Given the description of an element on the screen output the (x, y) to click on. 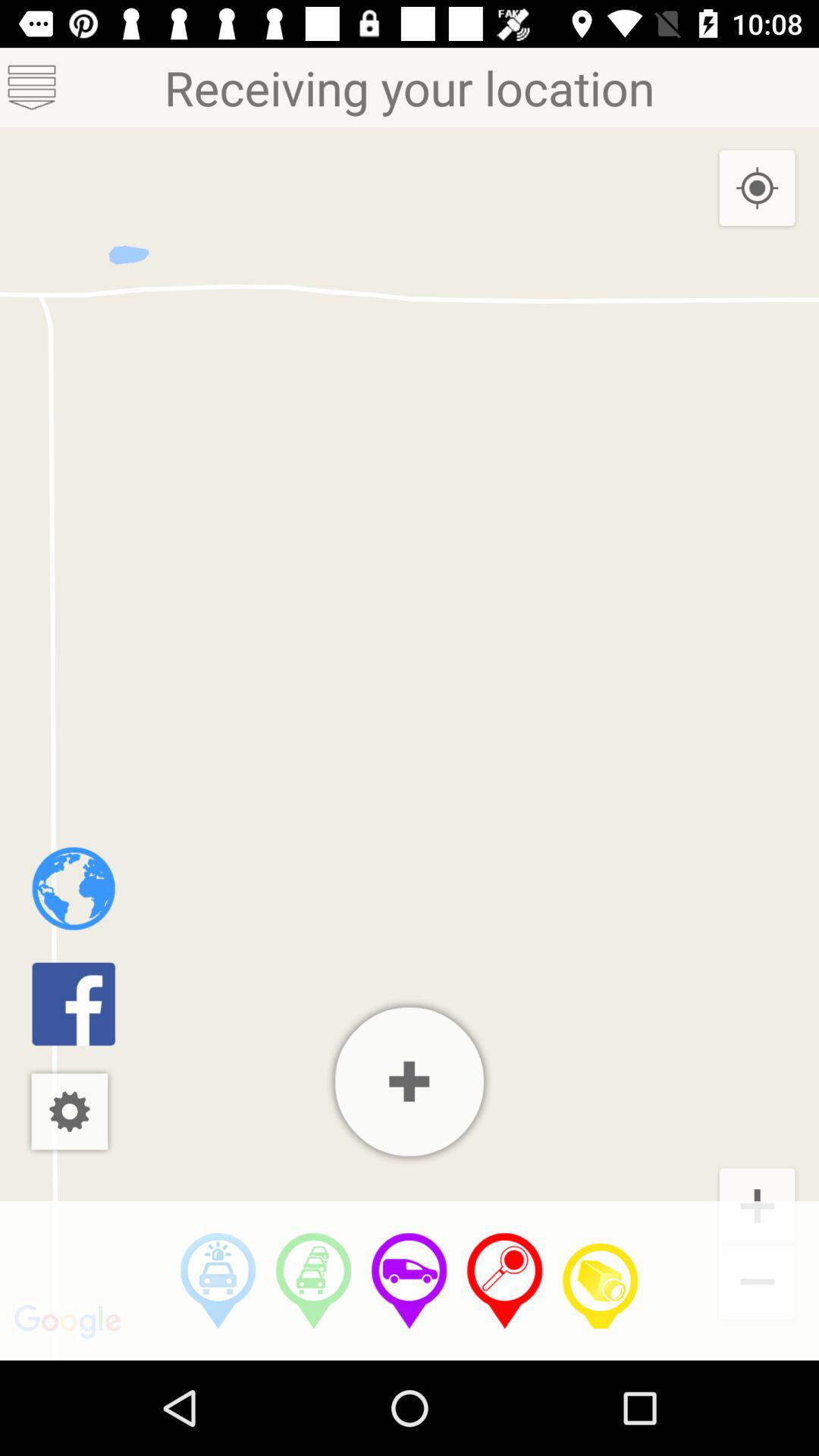
click the icon on the left (73, 888)
